Given the description of an element on the screen output the (x, y) to click on. 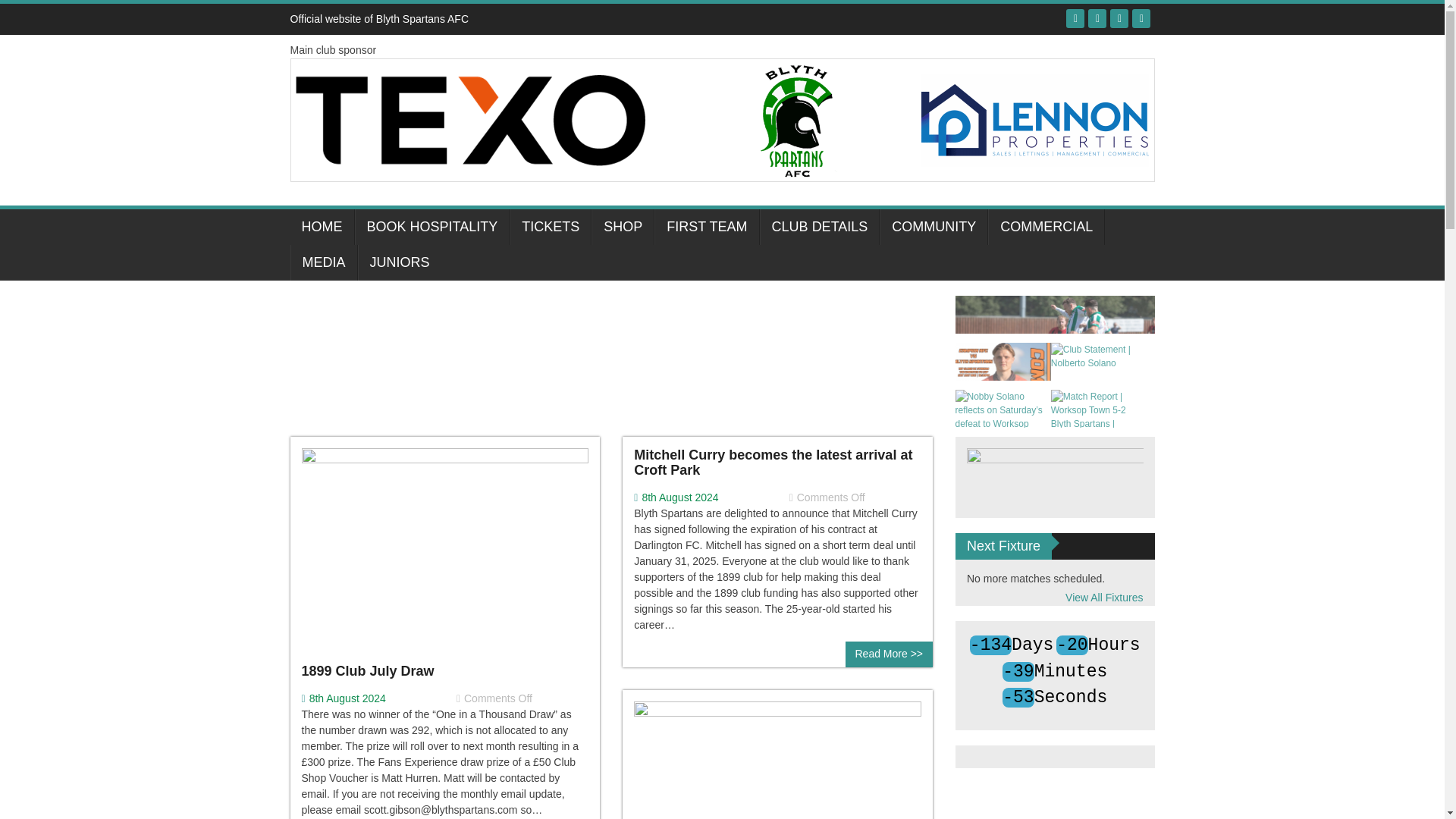
Isiah Cornet becomes a Spartan (777, 810)
TICKETS (550, 226)
FIRST TEAM (705, 226)
HOME (321, 226)
CLUB DETAILS (819, 226)
Instagram (1141, 18)
Facebook (1074, 18)
Youtube (1118, 18)
Twitter (1096, 18)
BOOK HOSPITALITY (432, 226)
